Given the description of an element on the screen output the (x, y) to click on. 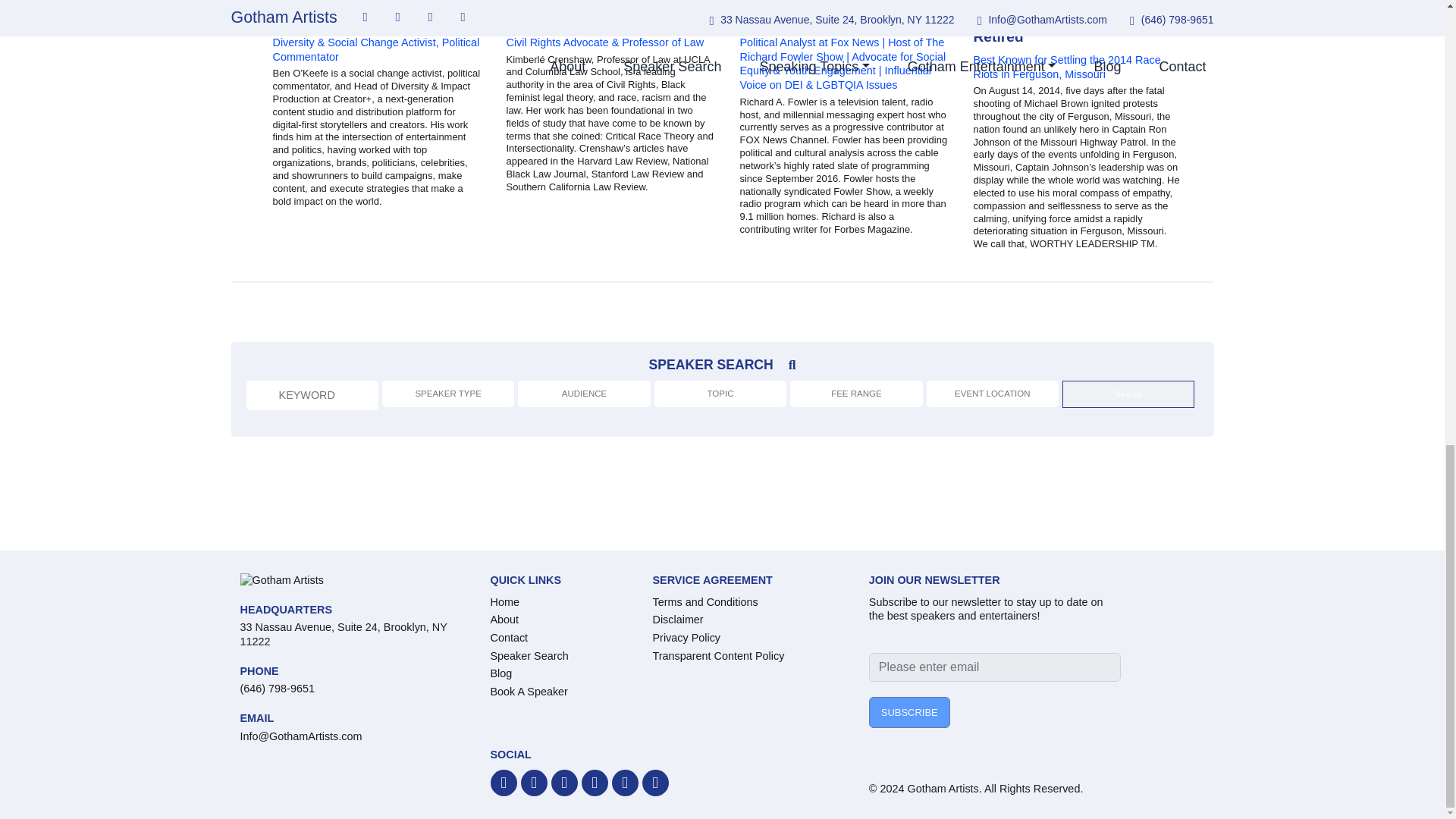
Search (1128, 394)
Ben O'Keefe (376, 18)
Subscribe (909, 712)
Ben O'Keefe (315, 19)
Search (1128, 394)
